Given the description of an element on the screen output the (x, y) to click on. 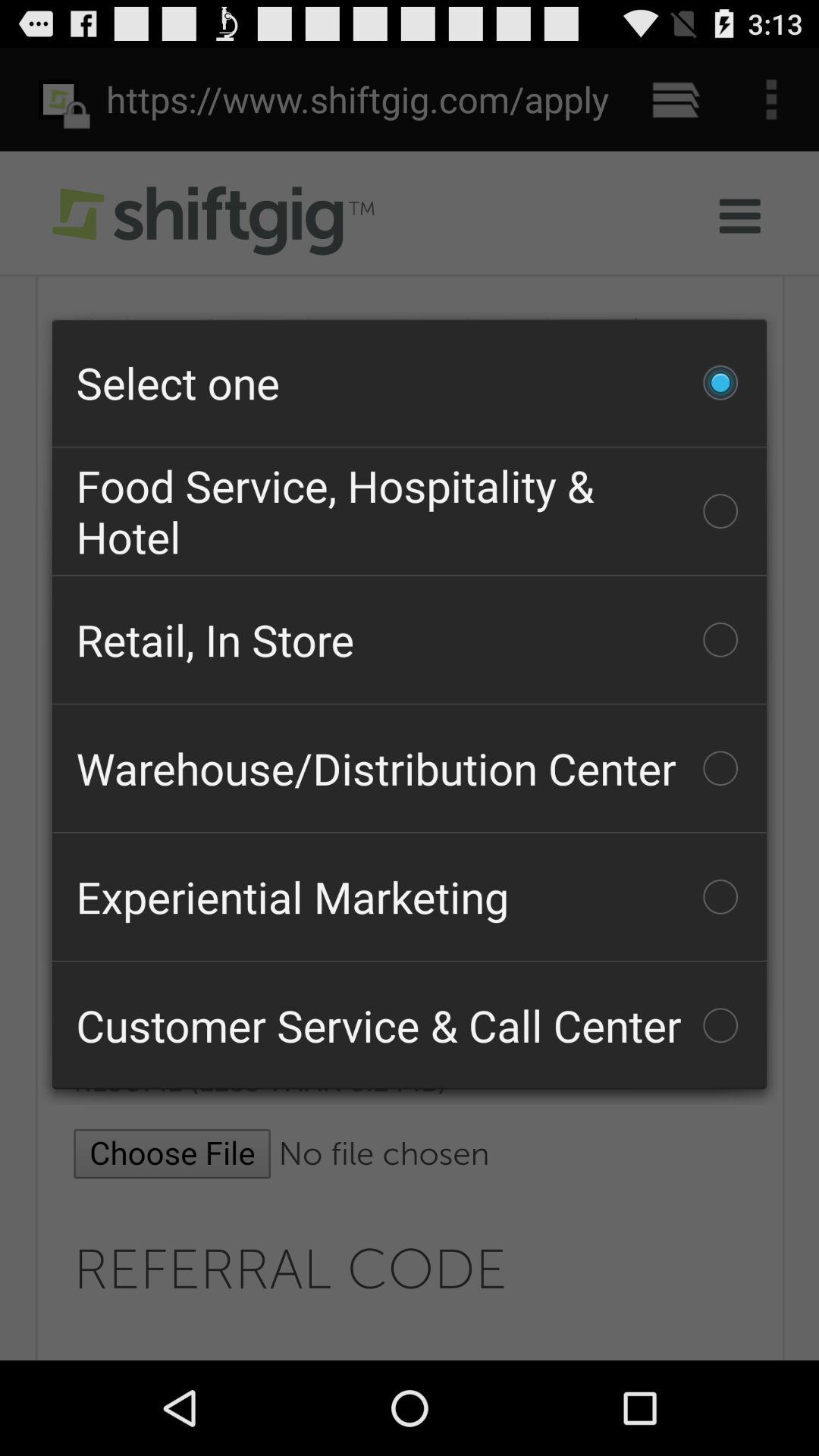
tap the item above customer service call checkbox (409, 896)
